Given the description of an element on the screen output the (x, y) to click on. 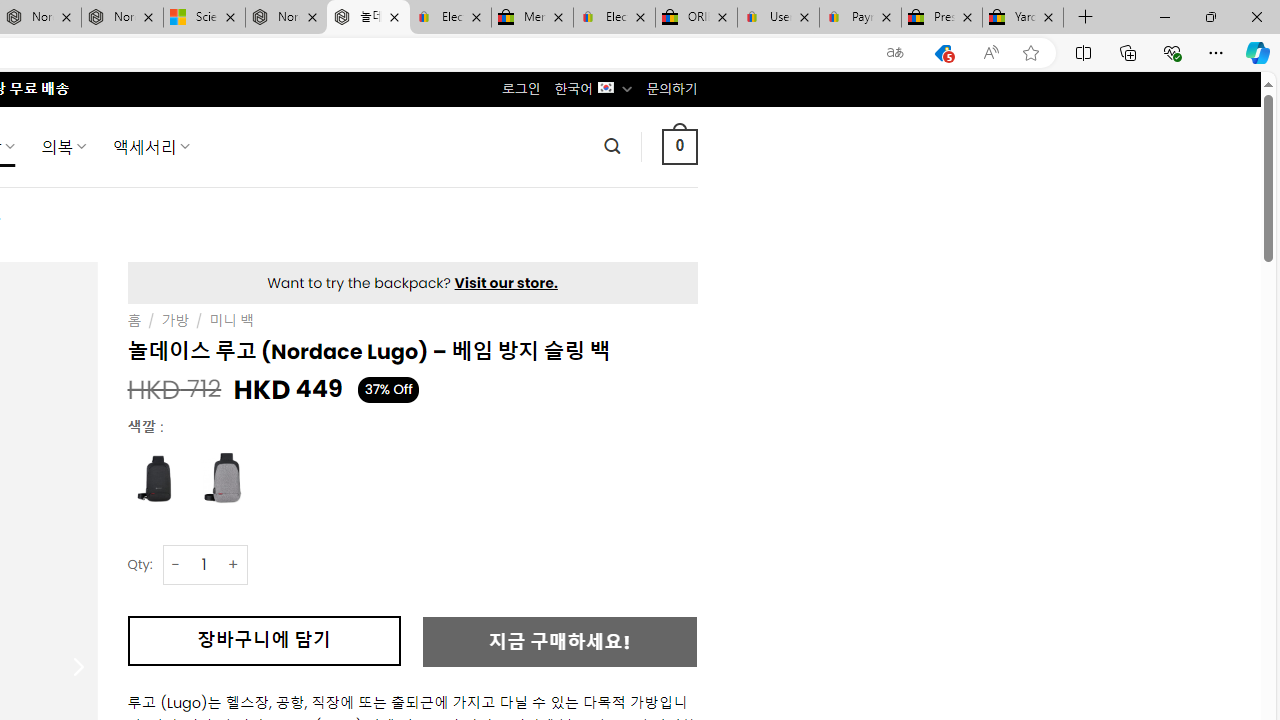
Visit our store. (506, 282)
  0   (679, 146)
Nordace - Summer Adventures 2024 (285, 17)
You have the best price! (943, 53)
 0  (679, 146)
